Given the description of an element on the screen output the (x, y) to click on. 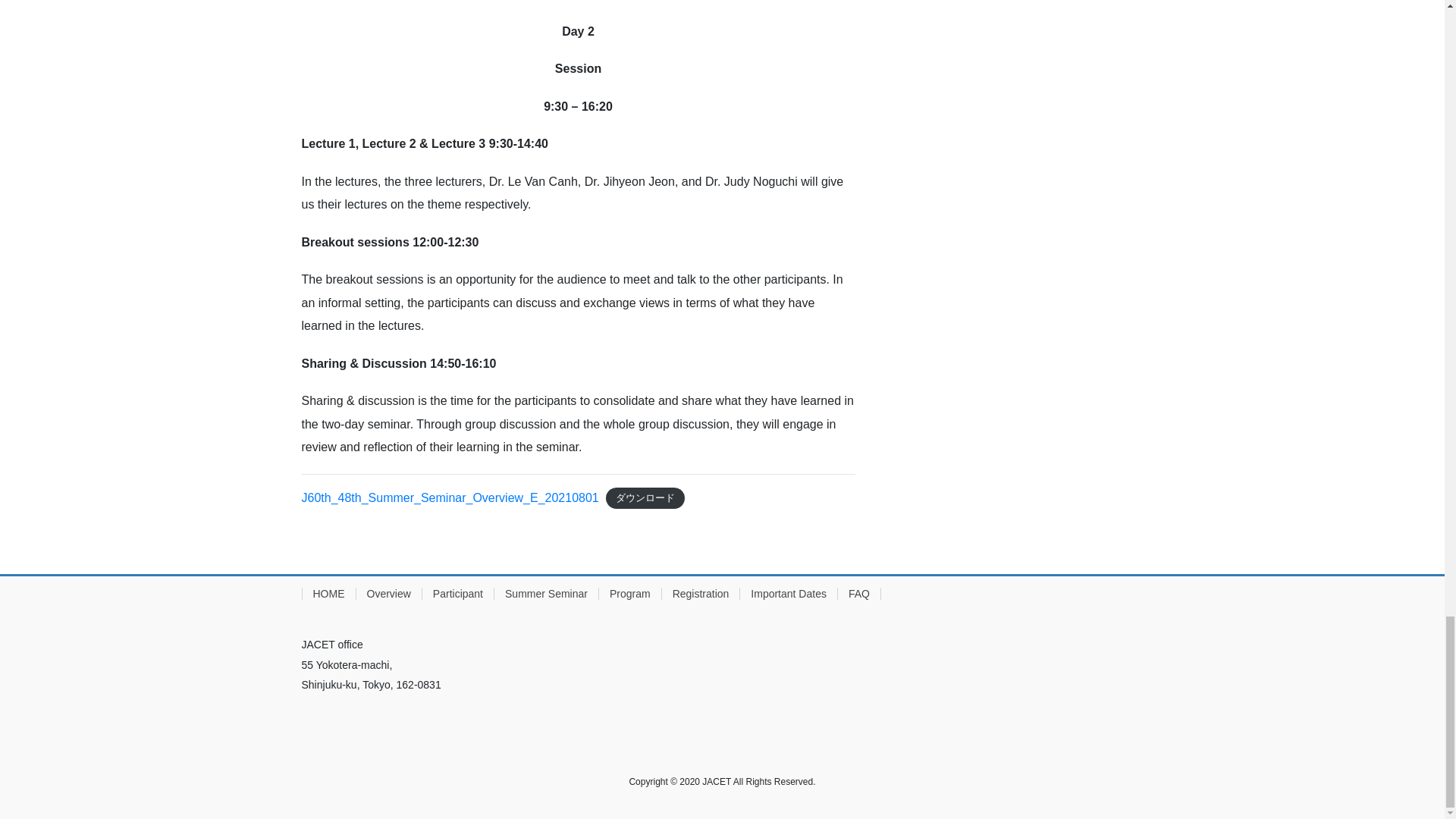
Summer Seminar (545, 593)
HOME (328, 593)
Overview (387, 593)
Participant (457, 593)
